Given the description of an element on the screen output the (x, y) to click on. 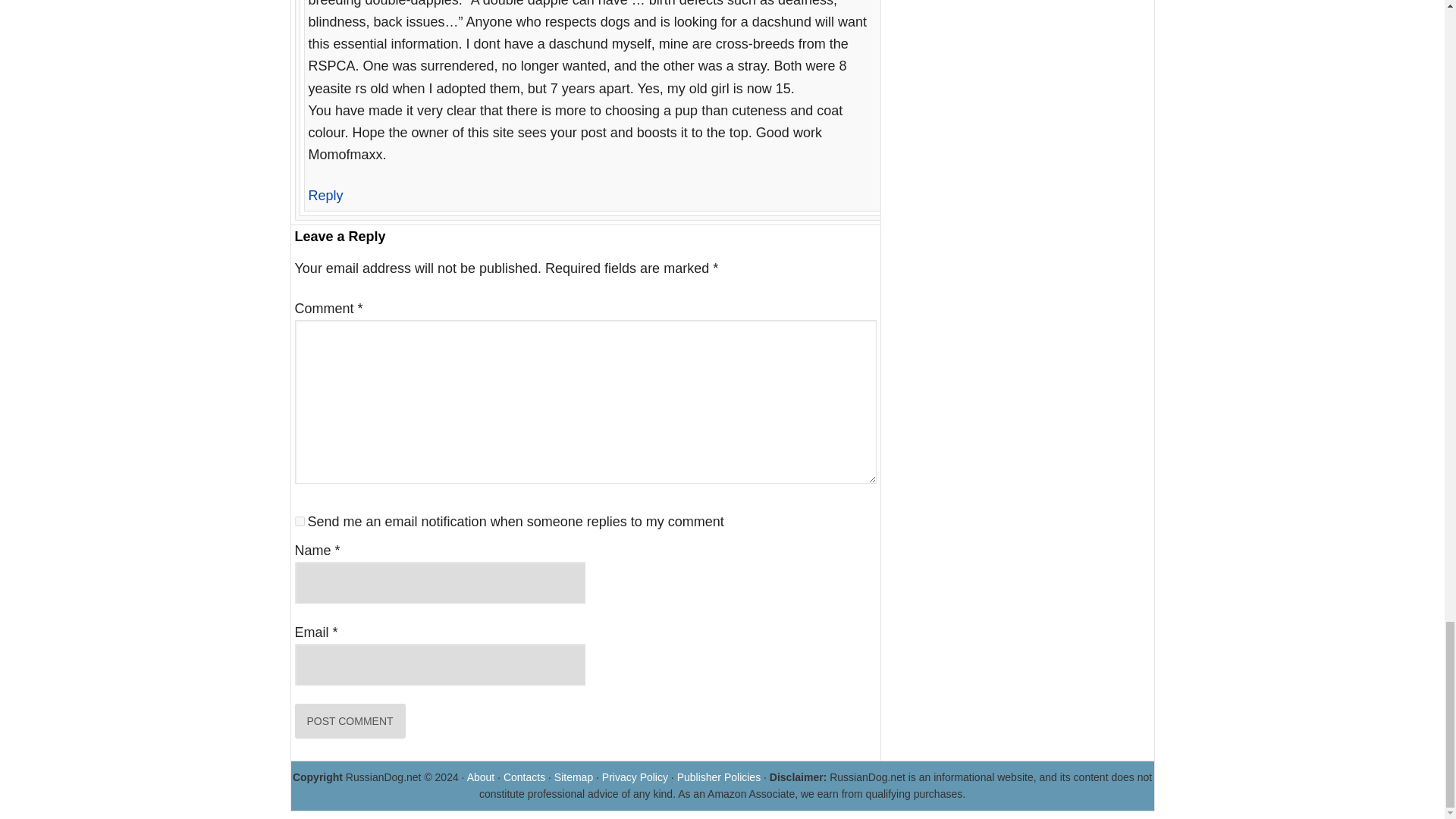
Post Comment (349, 720)
1 (299, 521)
Post Comment (349, 720)
Reply (324, 195)
